Given the description of an element on the screen output the (x, y) to click on. 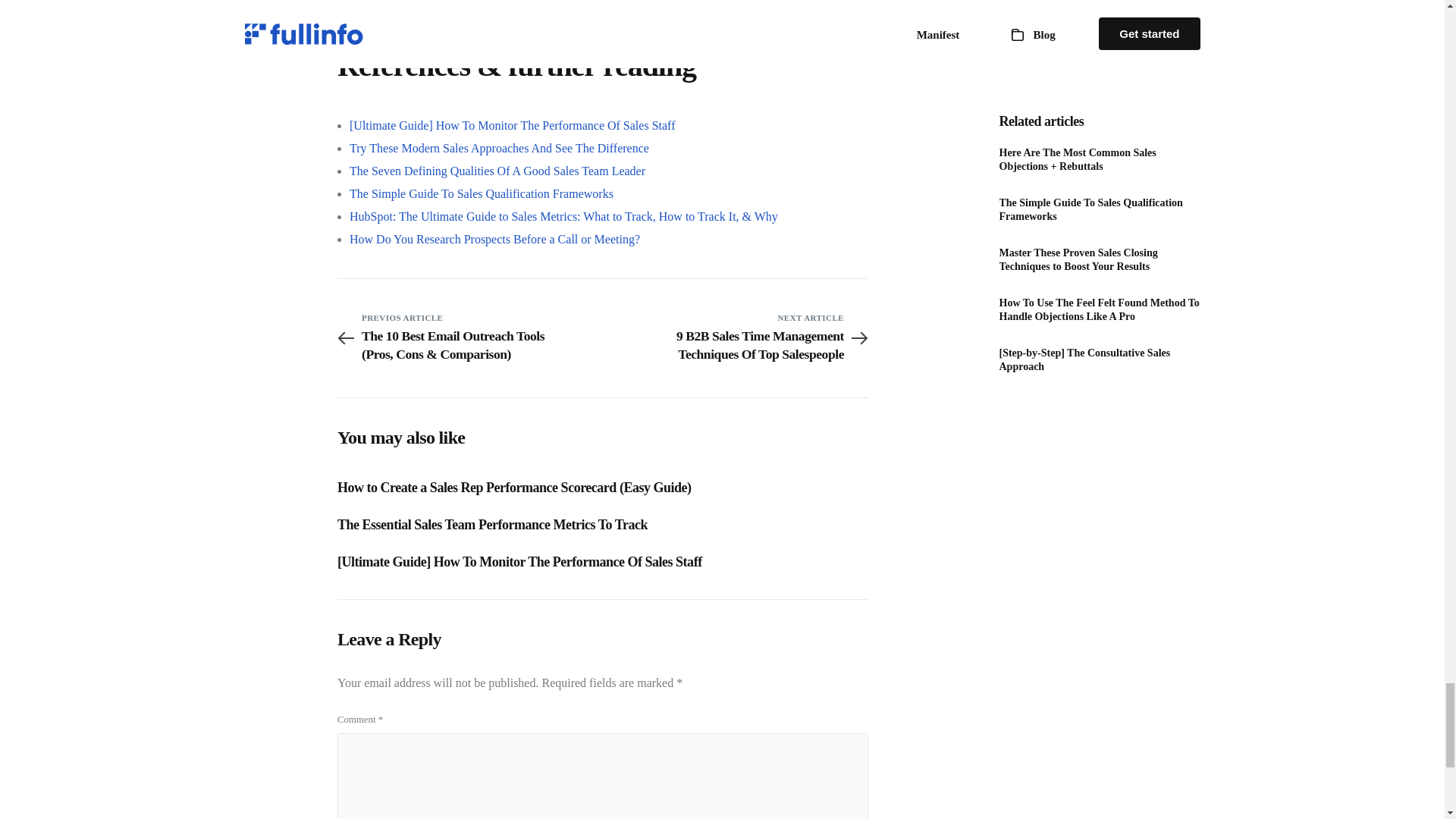
How Do You Research Prospects Before a Call or Meeting? (494, 238)
The Simple Guide To Sales Qualification Frameworks (480, 193)
9 B2B Sales Time Management Techniques Of Top Salespeople (735, 344)
Try These Modern Sales Approaches And See The Difference (499, 147)
The Seven Defining Qualities Of A Good Sales Team Leader (497, 170)
